Given the description of an element on the screen output the (x, y) to click on. 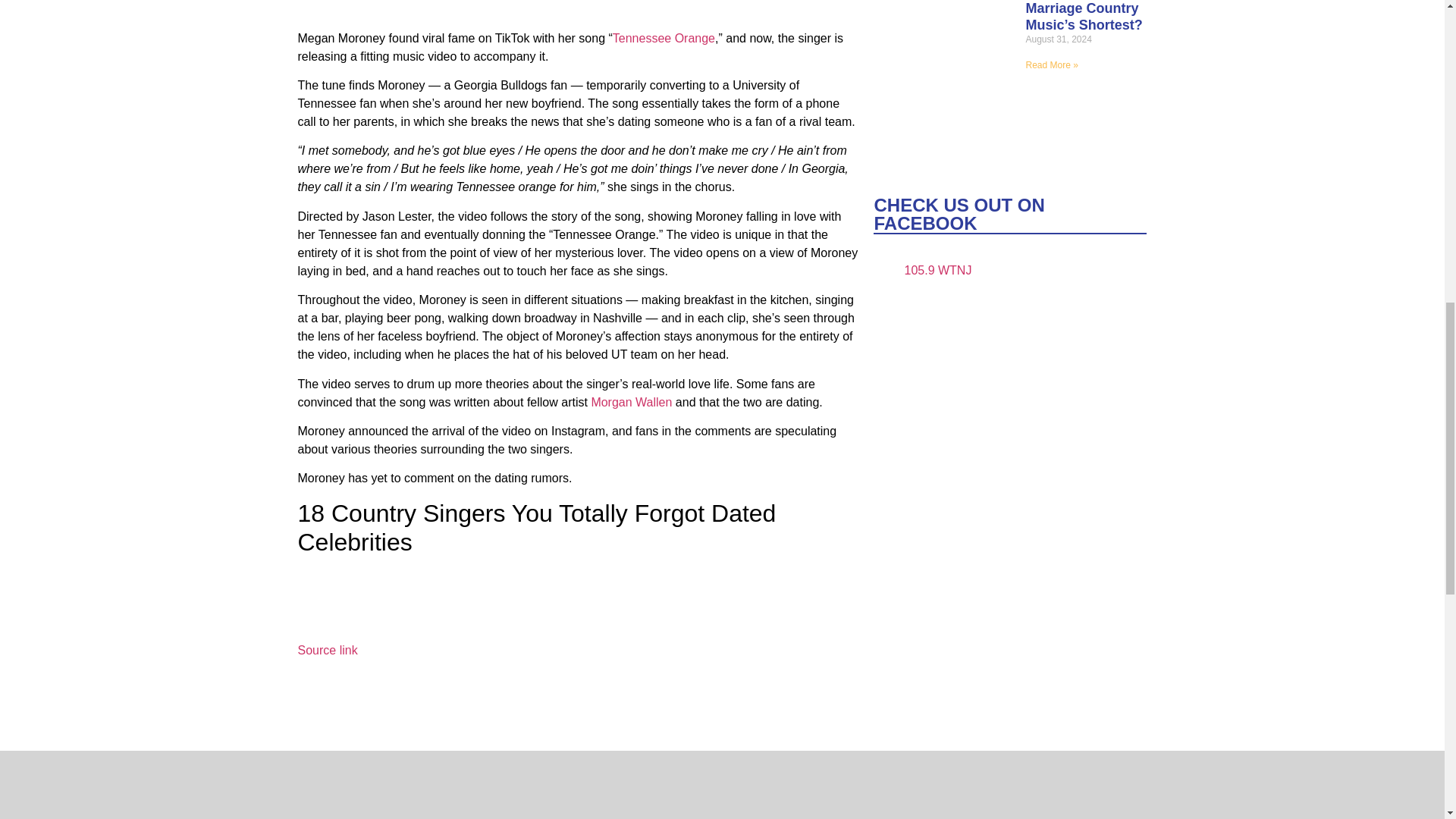
Tennessee Orange (663, 38)
Source link (326, 649)
Morgan Wallen (631, 401)
